Given the description of an element on the screen output the (x, y) to click on. 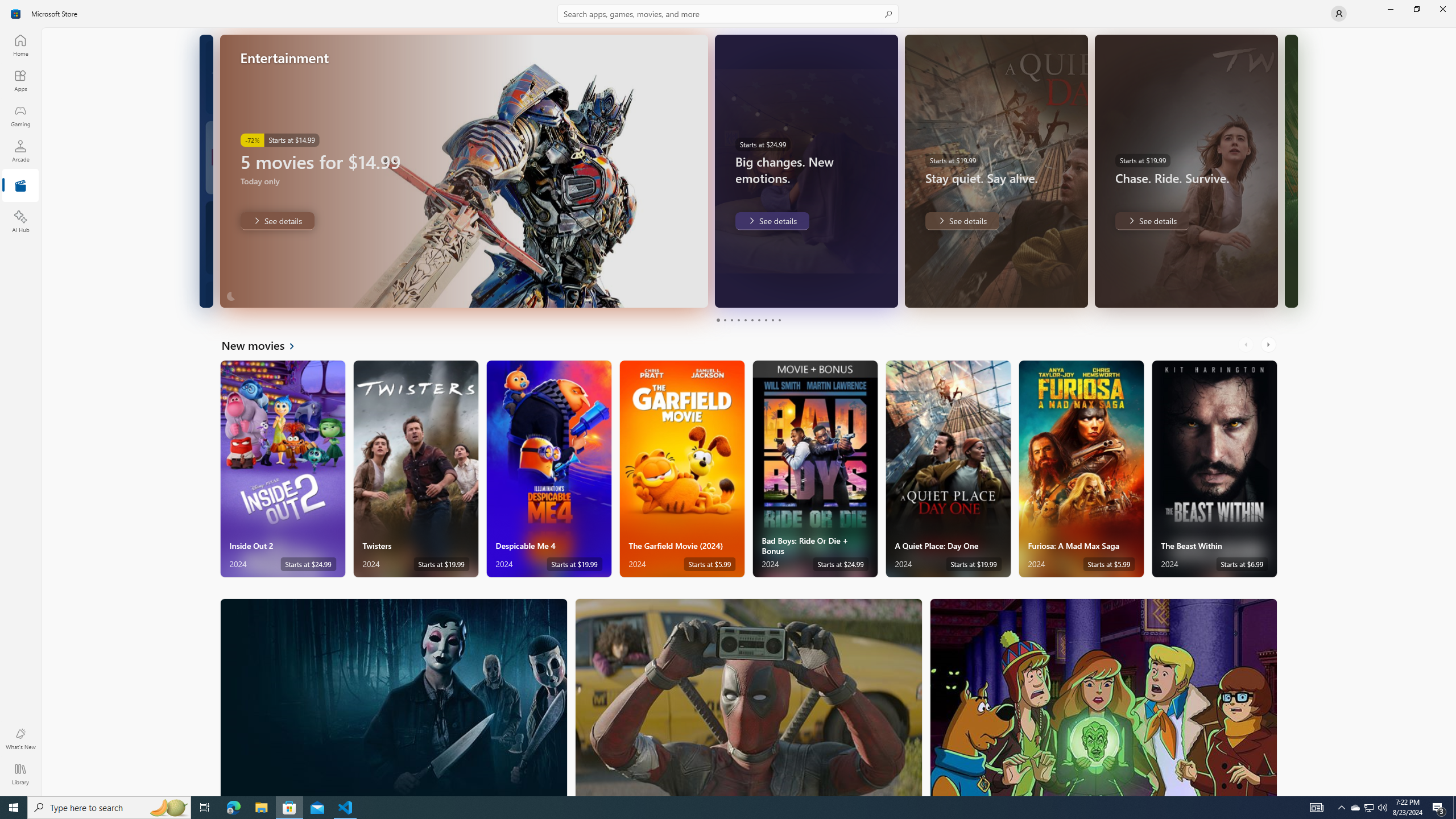
Page 6 (751, 319)
Pager (748, 319)
Restore Microsoft Store (1416, 9)
